Given the description of an element on the screen output the (x, y) to click on. 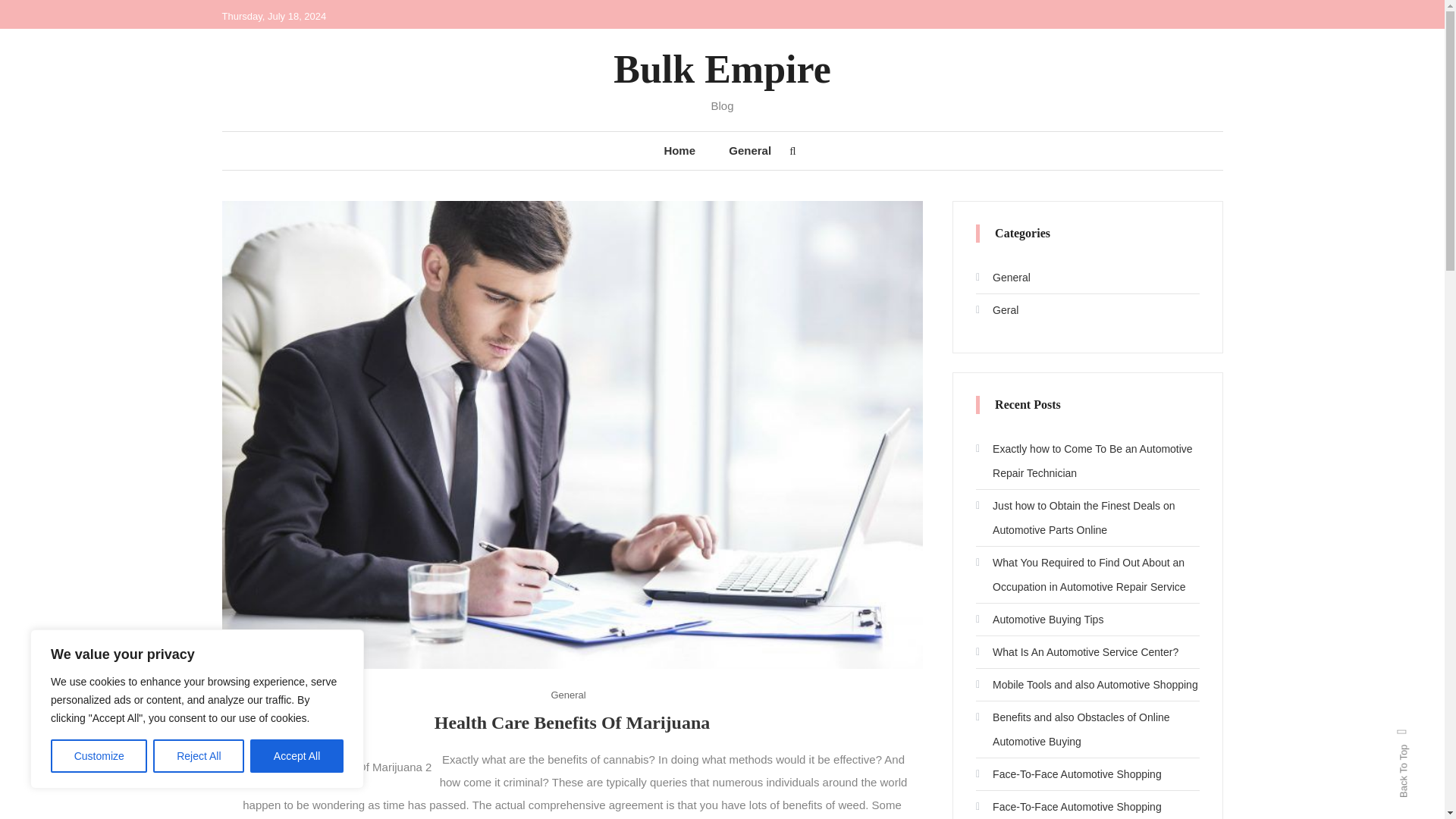
Exactly how to Come To Be an Automotive Repair Technician (1086, 460)
General (749, 150)
Customize (98, 756)
General (567, 694)
General (1002, 277)
Accept All (296, 756)
Bulk Empire (721, 68)
Reject All (198, 756)
Home (678, 150)
Geral (996, 310)
